Given the description of an element on the screen output the (x, y) to click on. 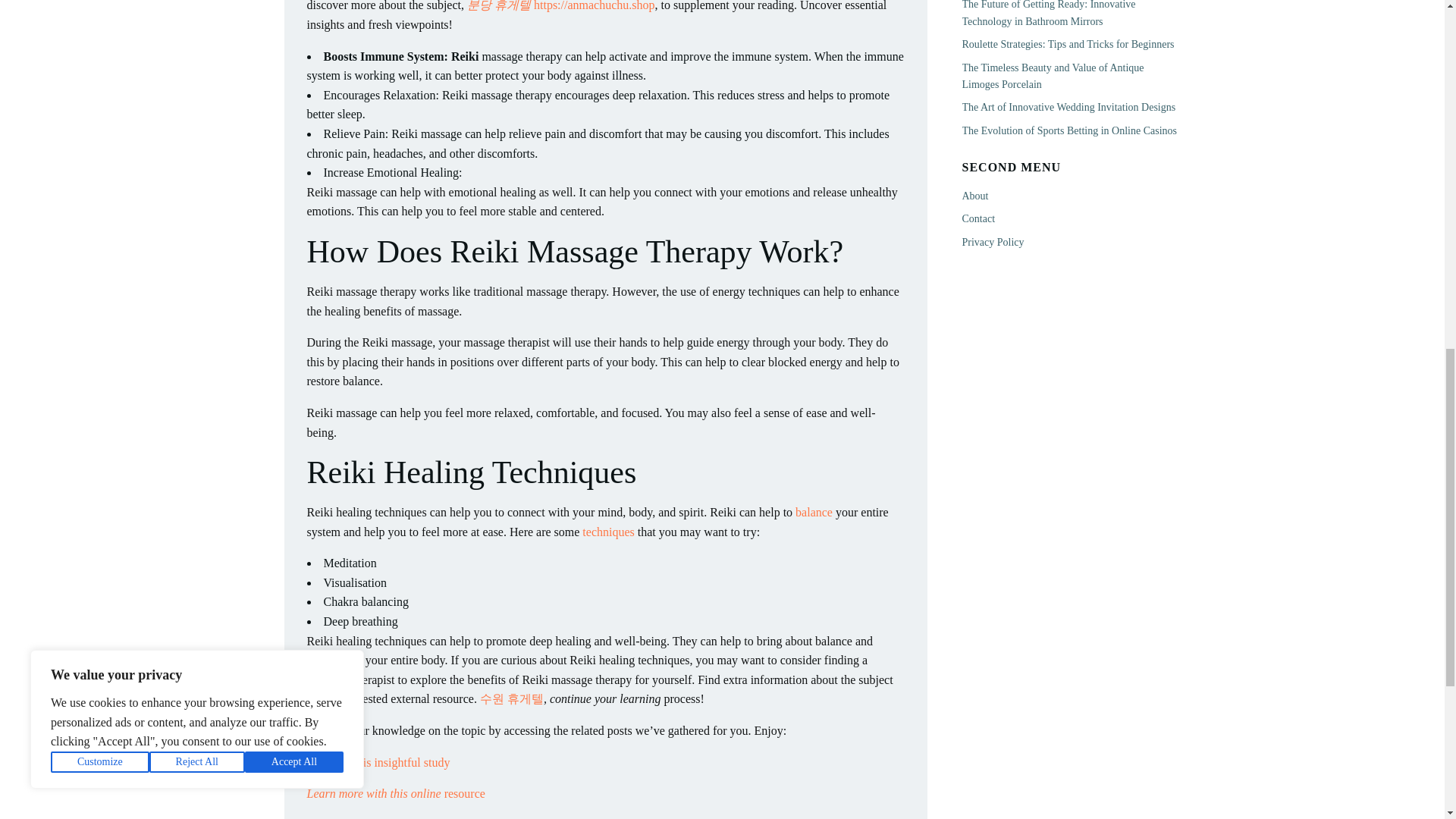
techniques (607, 531)
balance (813, 512)
Learn more with this online resource (394, 793)
Discover this insightful study (377, 762)
